Given the description of an element on the screen output the (x, y) to click on. 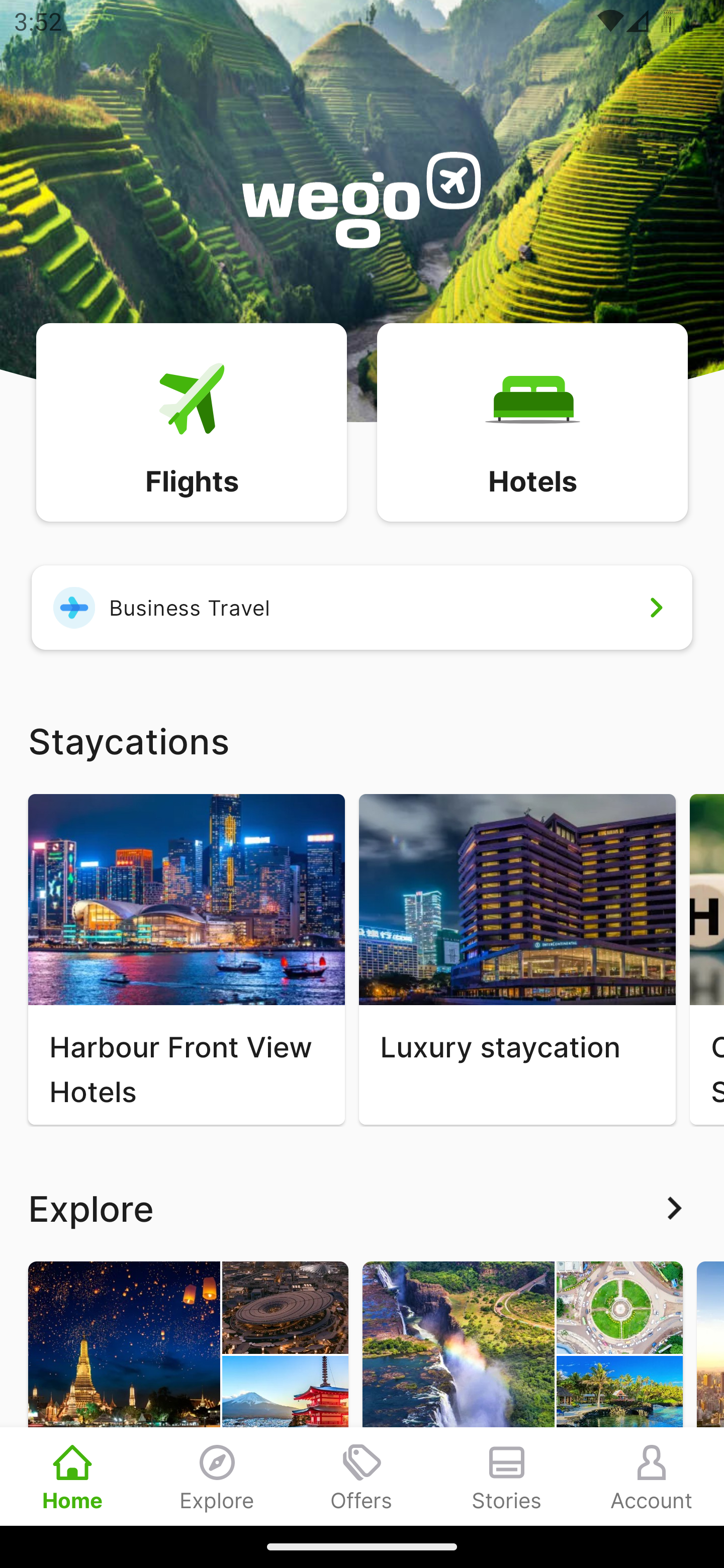
Flights (191, 420)
Hotels (532, 420)
Business Travel (361, 607)
Staycations (362, 739)
Harbour Front View Hotels (186, 958)
Luxury staycation (517, 958)
Explore (362, 1207)
Popular Destinations (188, 1392)
Visa-free Countries (522, 1392)
Explore (216, 1475)
Offers (361, 1475)
Stories (506, 1475)
Account (651, 1475)
